Given the description of an element on the screen output the (x, y) to click on. 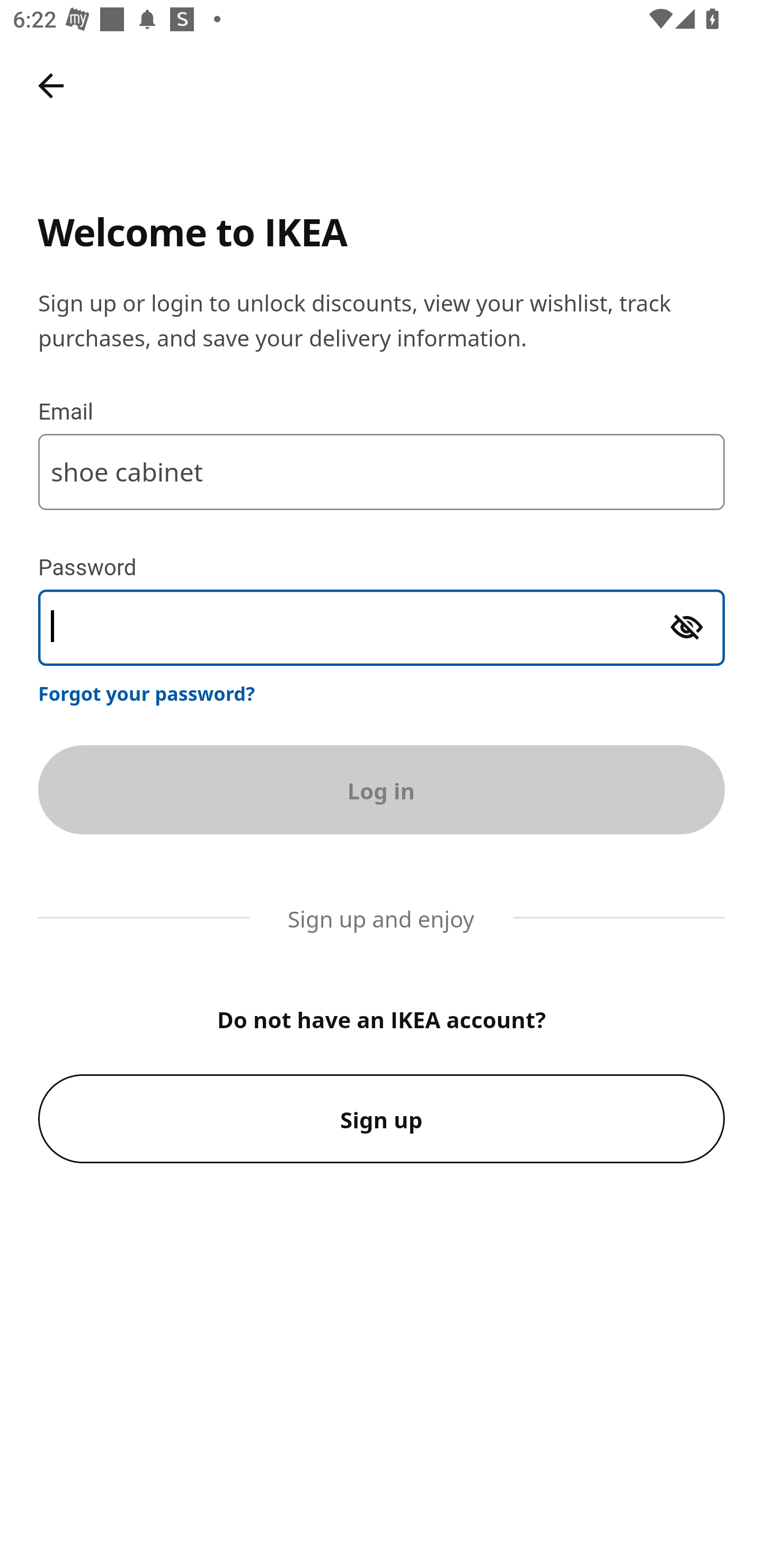
shoe cabinet (381, 471)
Forgot your password? (146, 692)
Log in (381, 789)
Sign up (381, 1118)
